Given the description of an element on the screen output the (x, y) to click on. 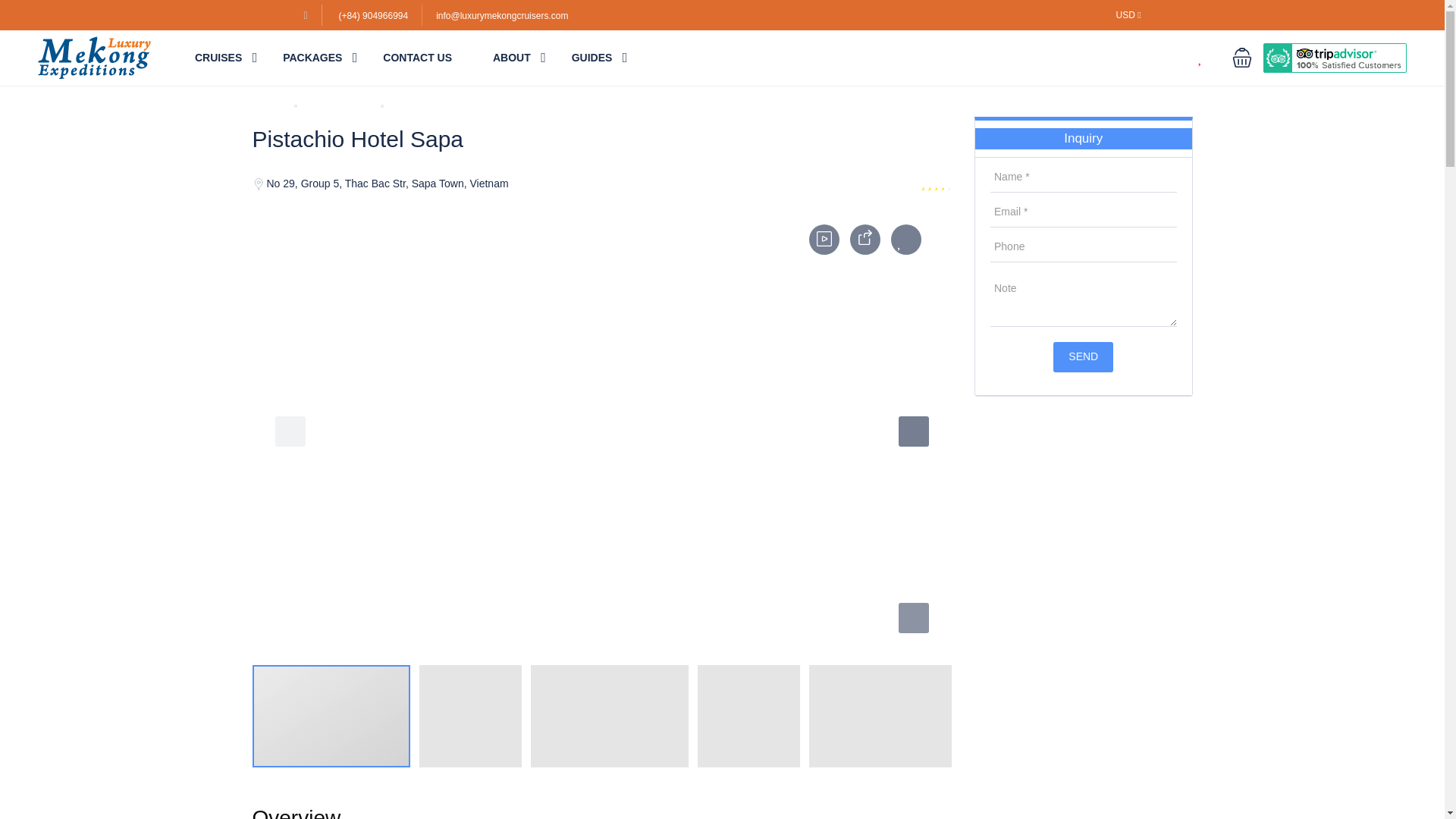
View your wishlist (1209, 57)
PACKAGES (312, 57)
USD (1128, 14)
CRUISES (218, 57)
Send (1082, 357)
